Given the description of an element on the screen output the (x, y) to click on. 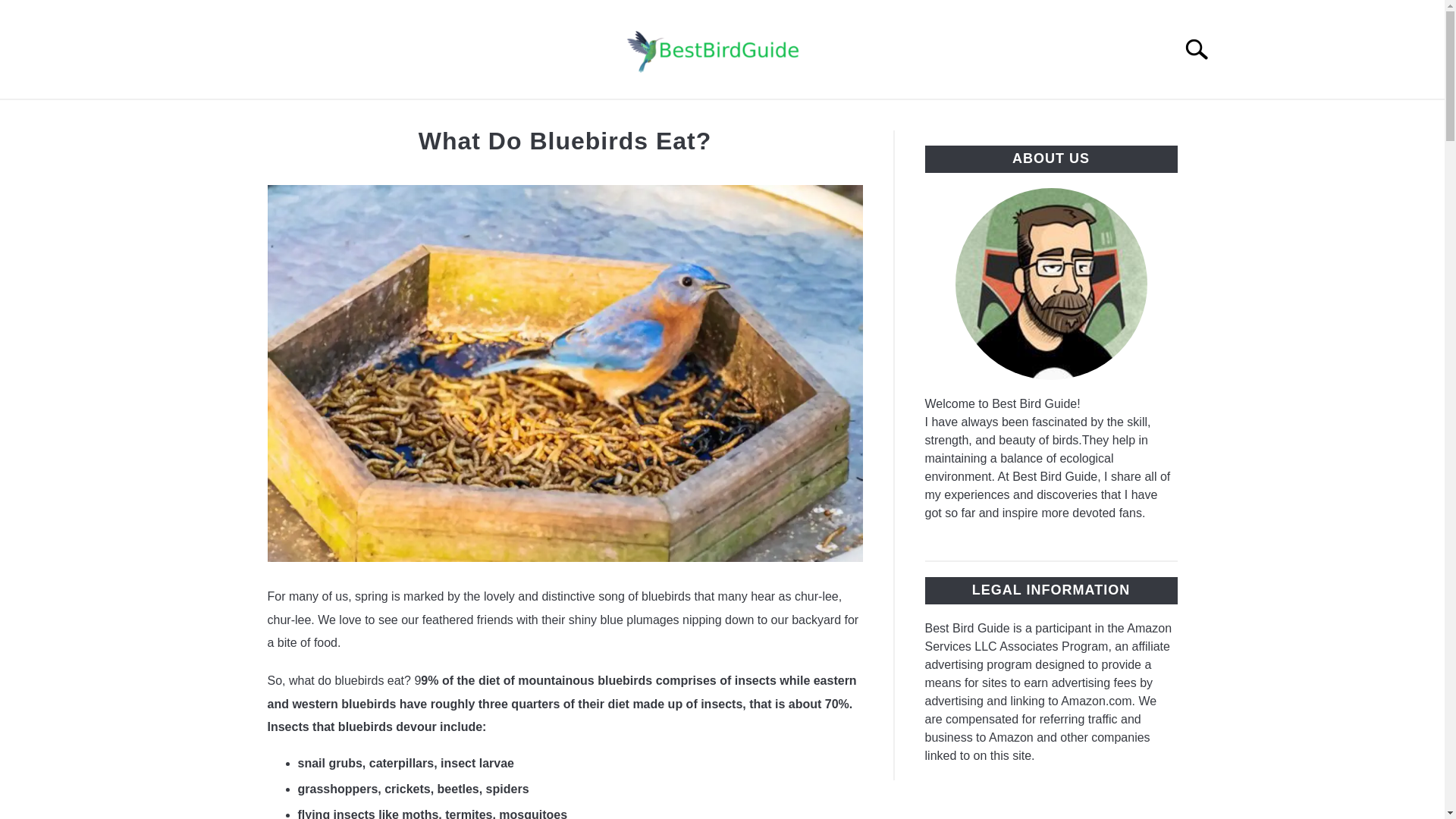
BIRDS LOOK LIKE (620, 117)
BIRD FEEDER (912, 117)
BIRDS (508, 117)
Search (1203, 49)
BIRD SYMBOLISMS (772, 117)
